Given the description of an element on the screen output the (x, y) to click on. 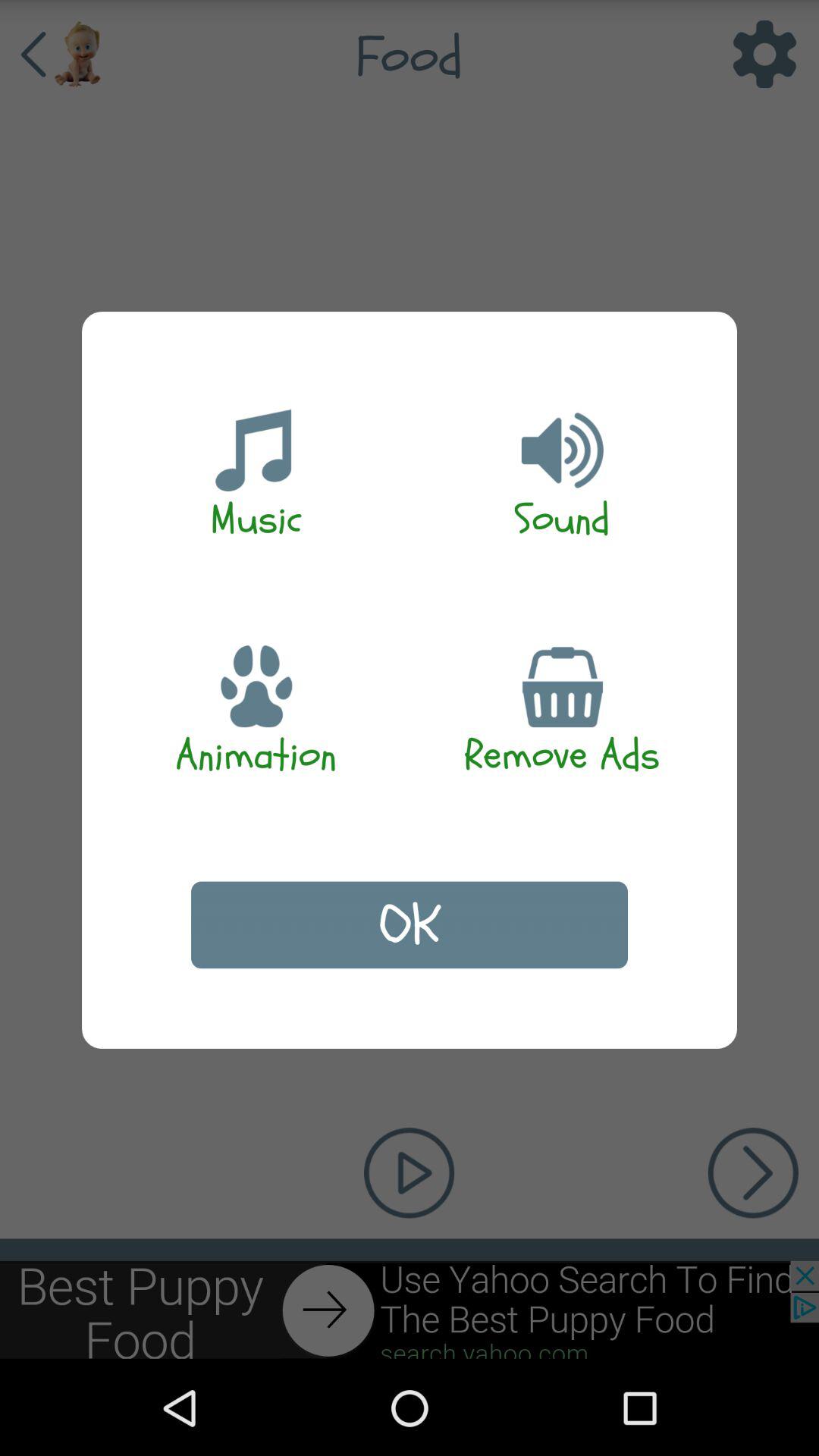
launch the icon at the center (409, 924)
